Given the description of an element on the screen output the (x, y) to click on. 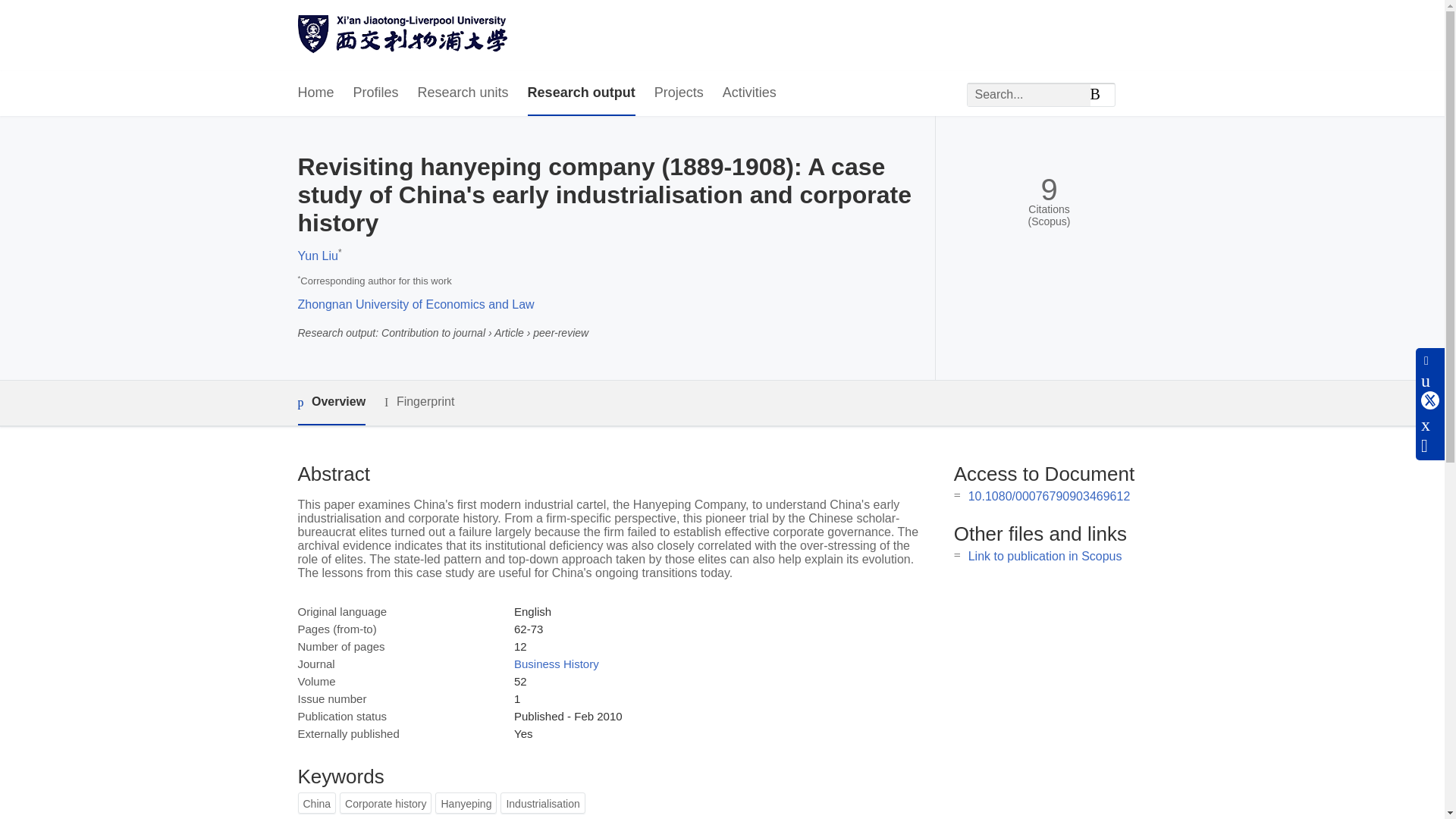
Profiles (375, 93)
Overview (331, 402)
Research output (580, 93)
Yun Liu (317, 255)
Zhongnan University of Economics and Law (415, 304)
Xi'an Jiaotong-Liverpool University Home (401, 35)
Link to publication in Scopus (1045, 555)
Research units (462, 93)
Projects (678, 93)
